Given the description of an element on the screen output the (x, y) to click on. 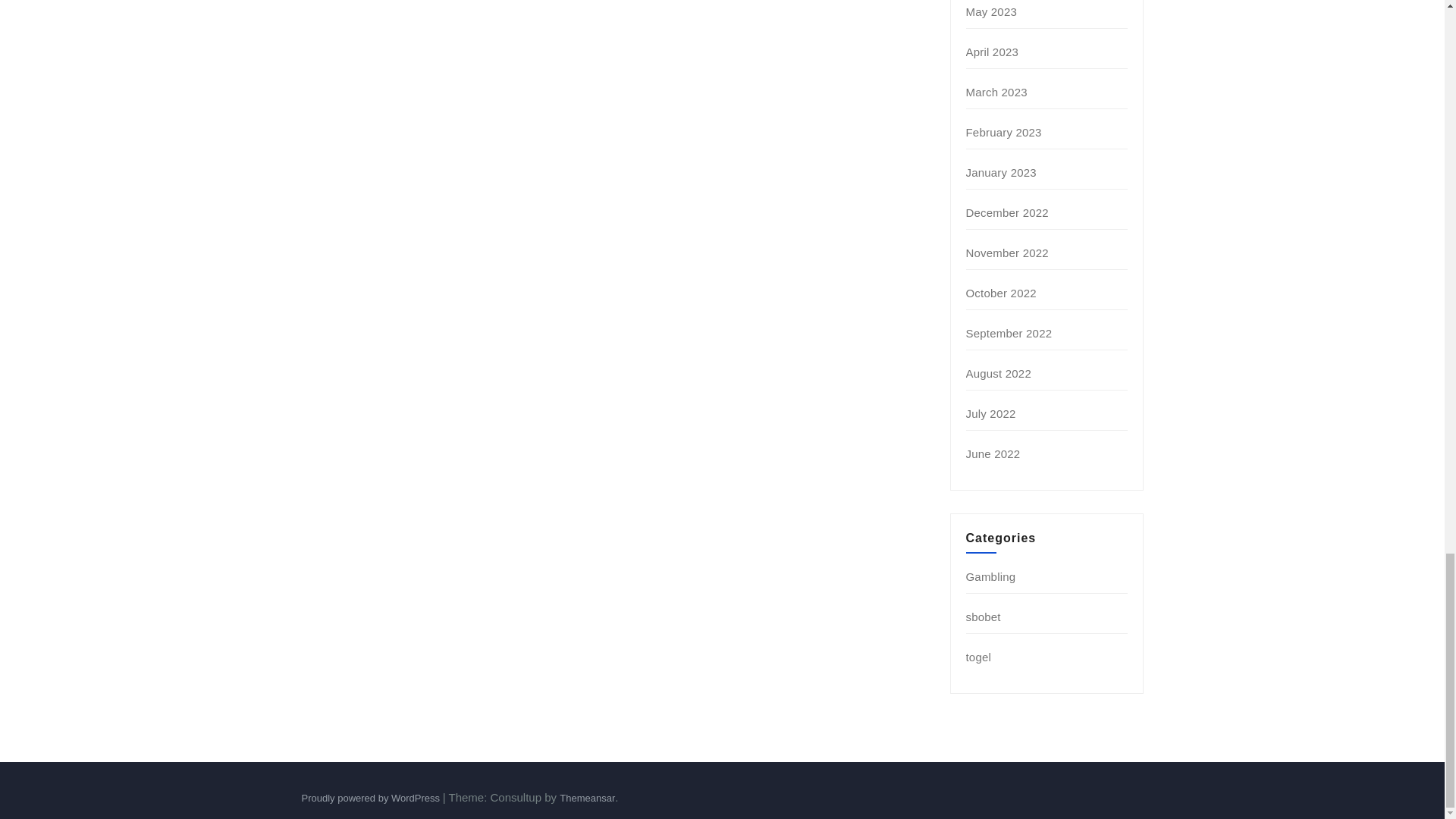
September 2022 (1009, 332)
December 2022 (1007, 212)
February 2023 (1004, 132)
November 2022 (1007, 252)
March 2023 (996, 91)
August 2022 (998, 373)
October 2022 (1001, 292)
January 2023 (1001, 172)
May 2023 (991, 11)
April 2023 (992, 51)
